Given the description of an element on the screen output the (x, y) to click on. 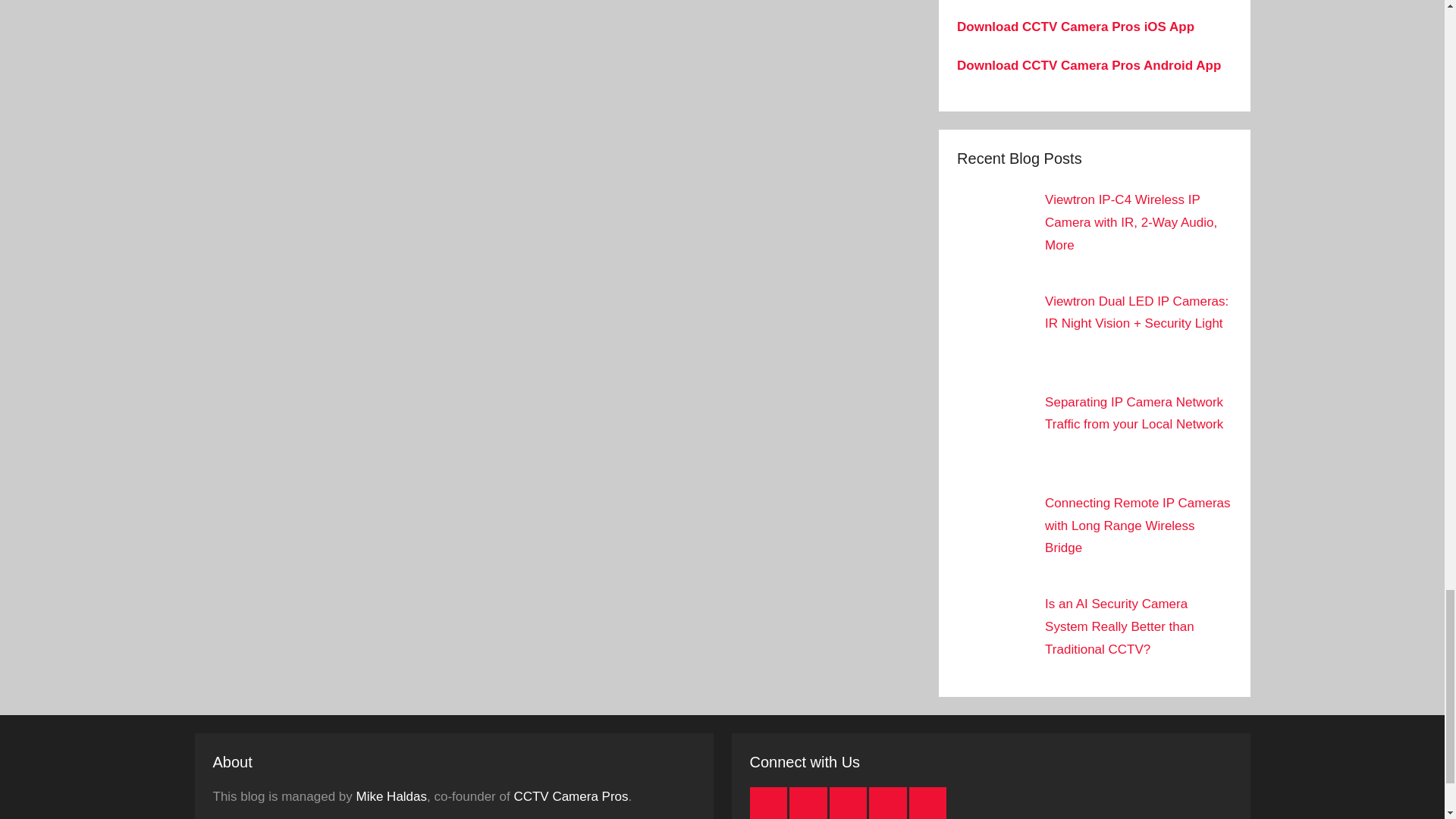
Separating IP Camera Network Traffic from your Local Network (1134, 413)
Viewtron IP-C4 Wireless IP Camera with IR, 2-Way Audio, More (1131, 222)
Connecting Remote IP Cameras with Long Range Wireless Bridge (1137, 526)
